Given the description of an element on the screen output the (x, y) to click on. 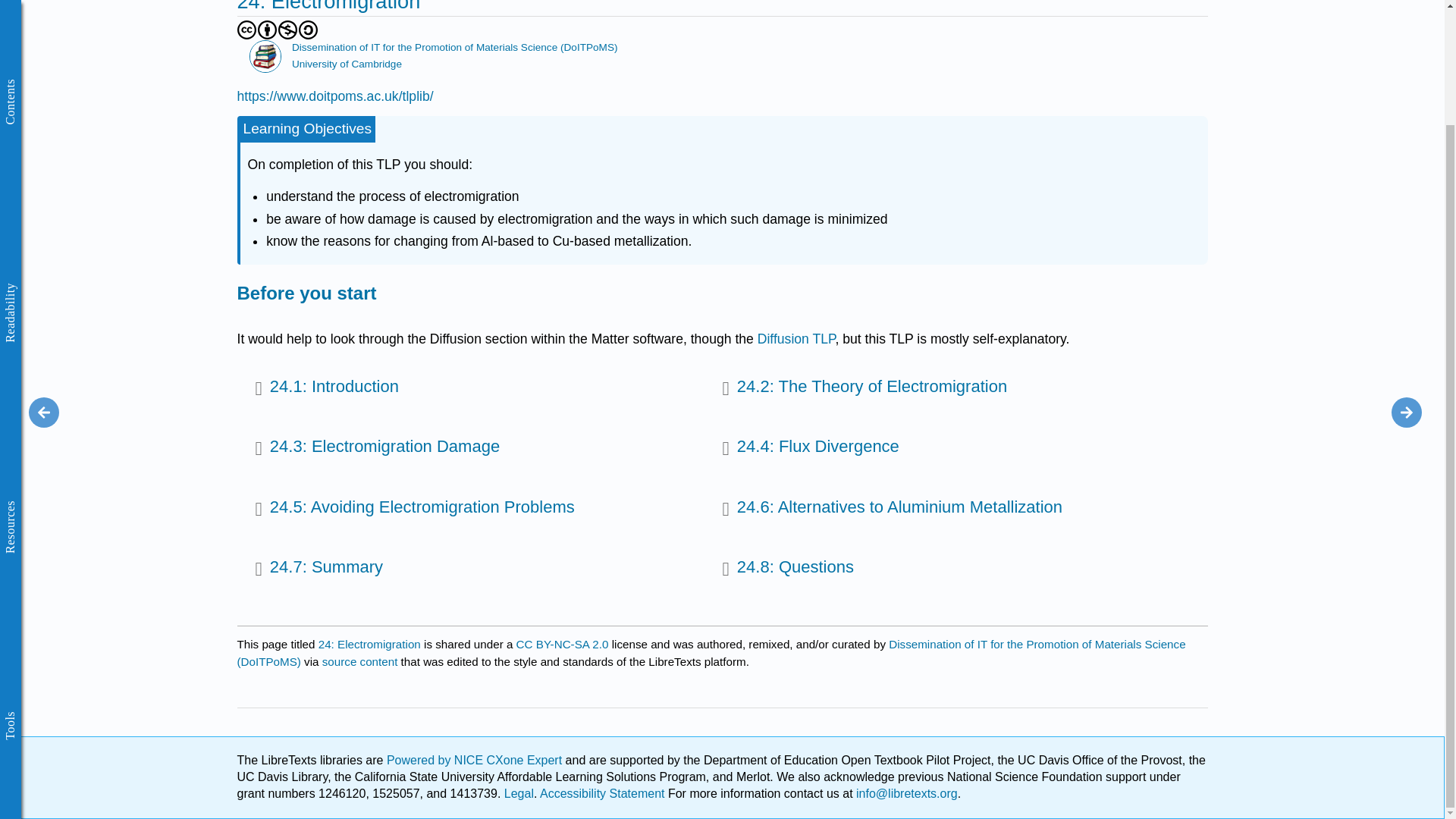
NC (288, 29)
CC (246, 29)
SA (307, 29)
BY (267, 29)
